Given the description of an element on the screen output the (x, y) to click on. 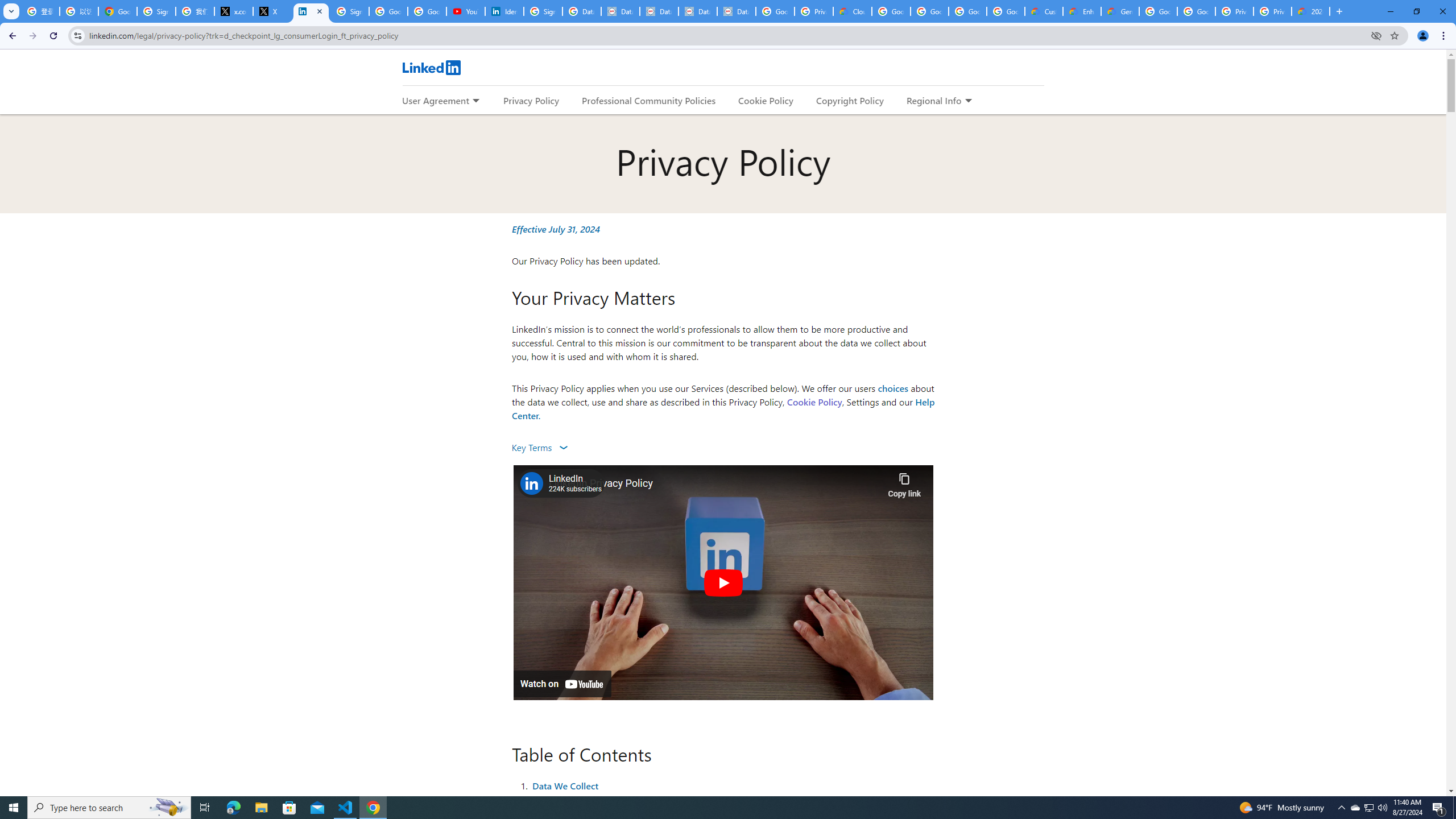
Copy link (904, 482)
Data Privacy Framework (697, 11)
LinkedIn Privacy Policy (715, 483)
choices (892, 387)
Enhanced Support | Google Cloud (1082, 11)
Effective July 31, 2024 (555, 228)
LinkedIn Logo (430, 67)
Help Center. (723, 408)
Key Terms  (539, 447)
User Agreement (434, 100)
